Given the description of an element on the screen output the (x, y) to click on. 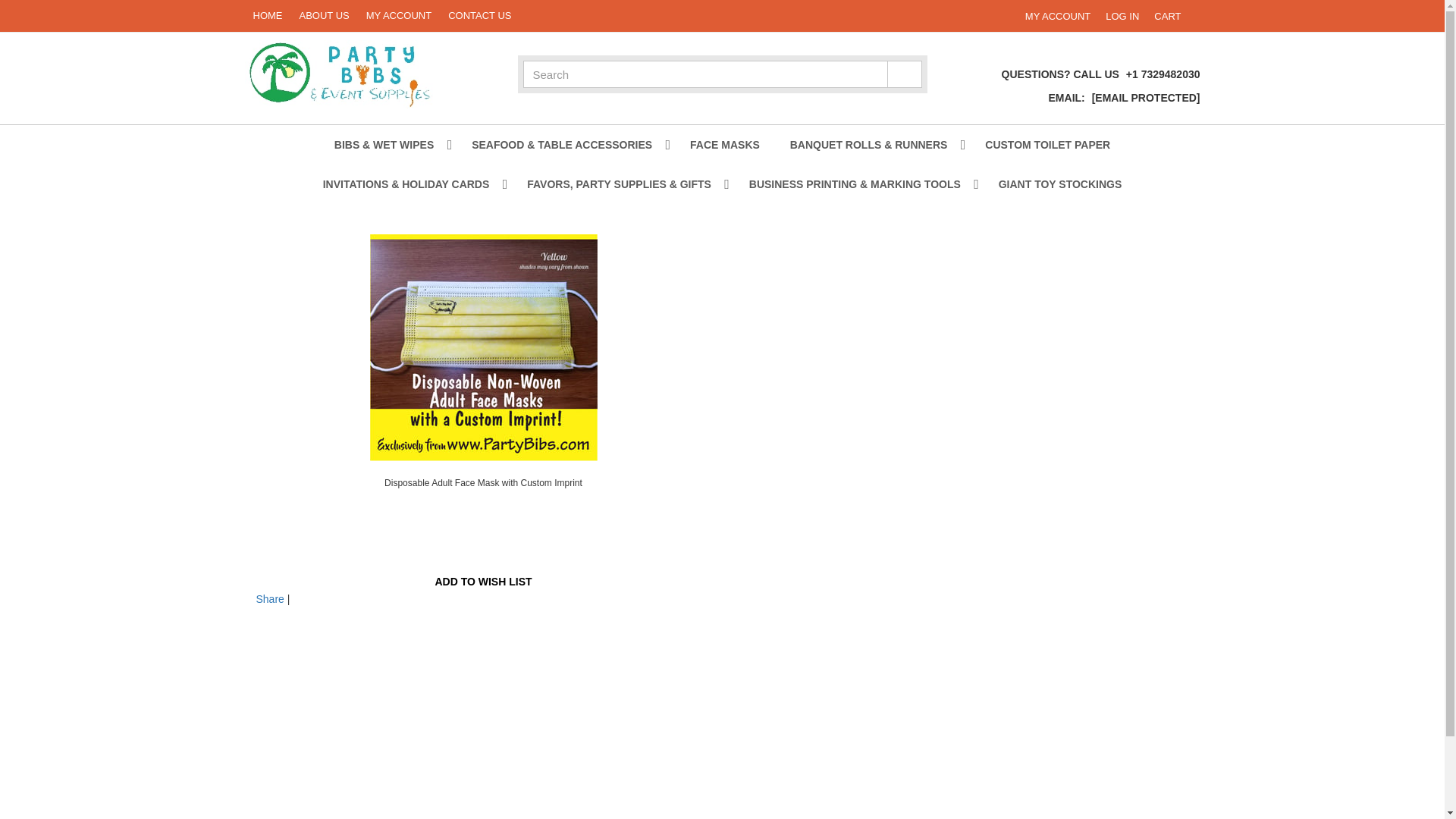
Disposable Adult Face Mask with Custom Imprint  (1167, 15)
MY ACCOUNT (483, 482)
ABOUT US (1122, 15)
Disposable Adult Face Mask with Custom Imprint  (1058, 15)
HOME (398, 15)
FACE MASKS (324, 15)
CONTACT US (483, 347)
